Given the description of an element on the screen output the (x, y) to click on. 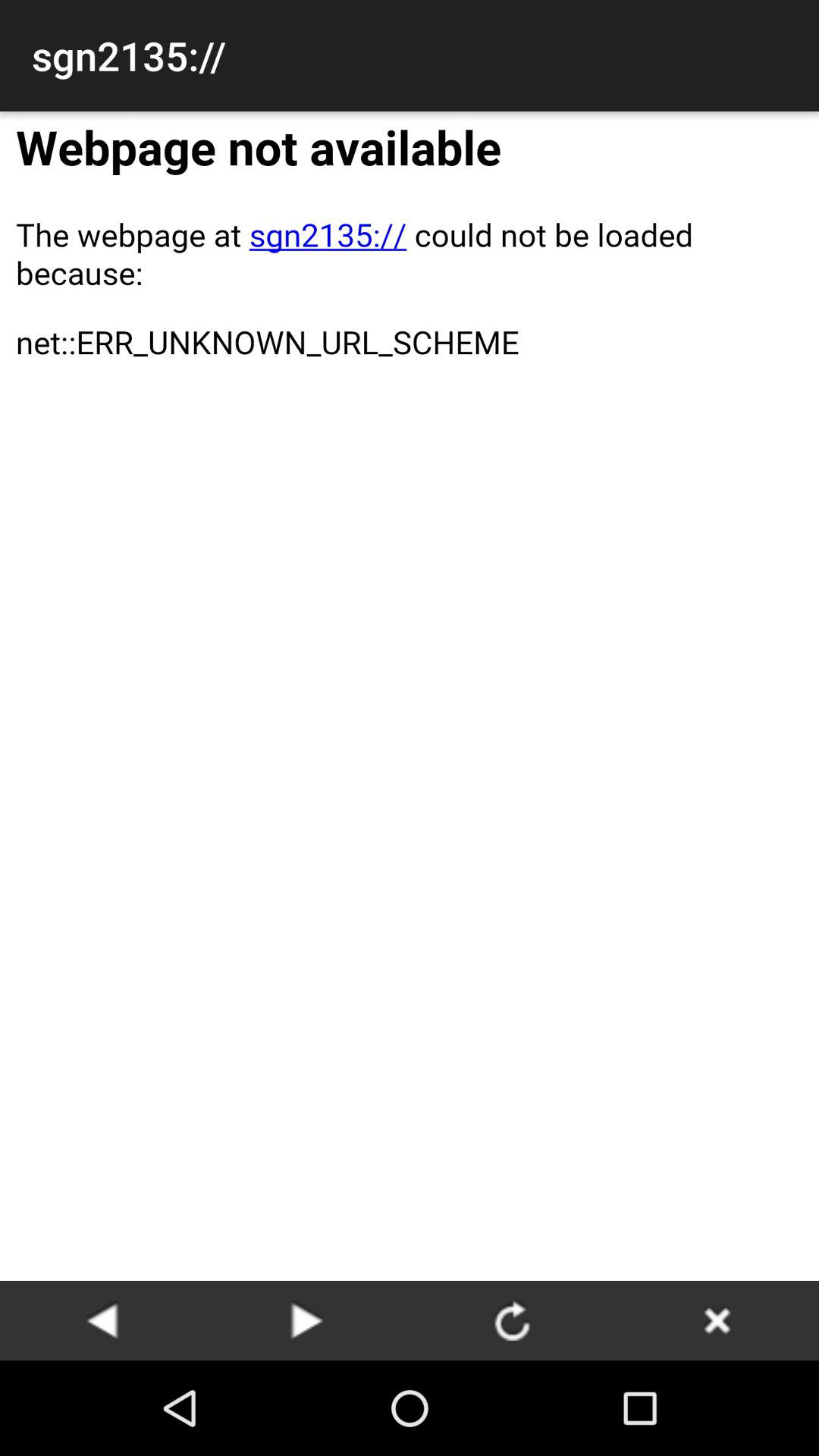
close button (716, 1320)
